Given the description of an element on the screen output the (x, y) to click on. 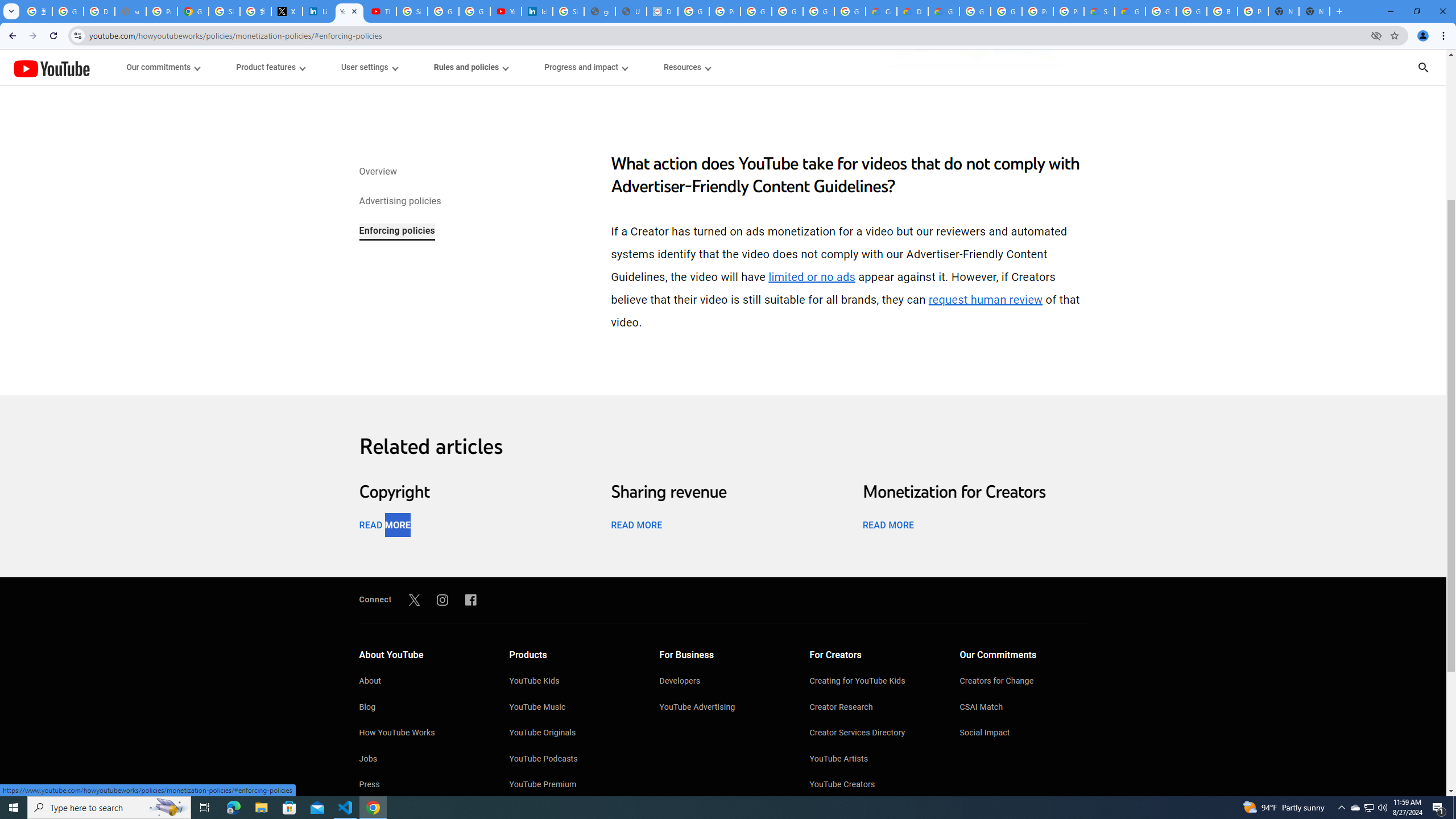
Social Impact (1023, 733)
Creators for Change (1023, 682)
Support Hub | Google Cloud (1098, 11)
YouTube Podcasts (573, 759)
Google Cloud Platform (974, 11)
JUMP TO CONTENT (118, 67)
